Given the description of an element on the screen output the (x, y) to click on. 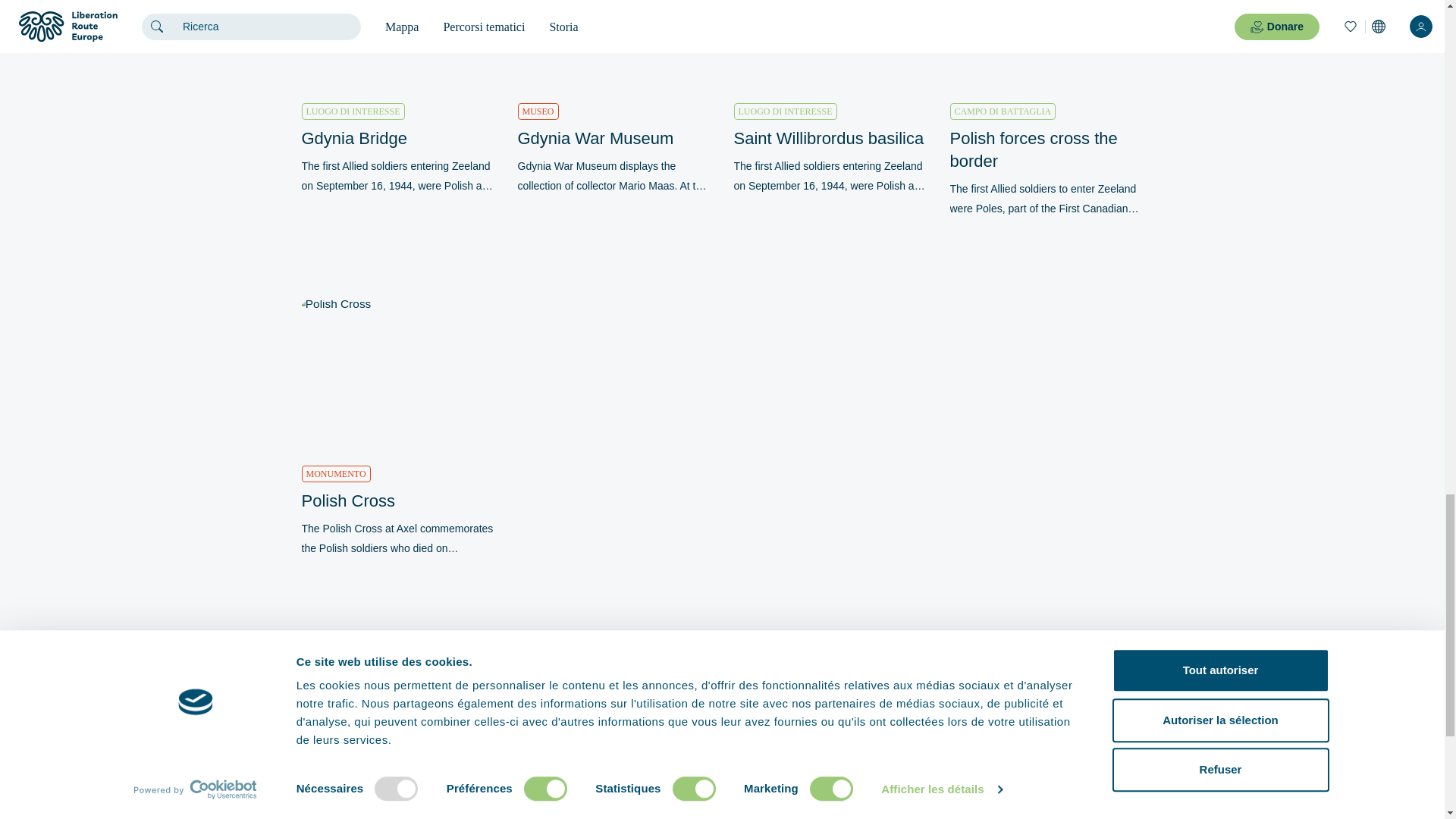
Polish forces cross the border (1045, 149)
Polish Cross (398, 500)
Saint Willibrordus basilica (830, 138)
Gdynia Bridge (398, 138)
Gdynia War Museum (613, 138)
